Given the description of an element on the screen output the (x, y) to click on. 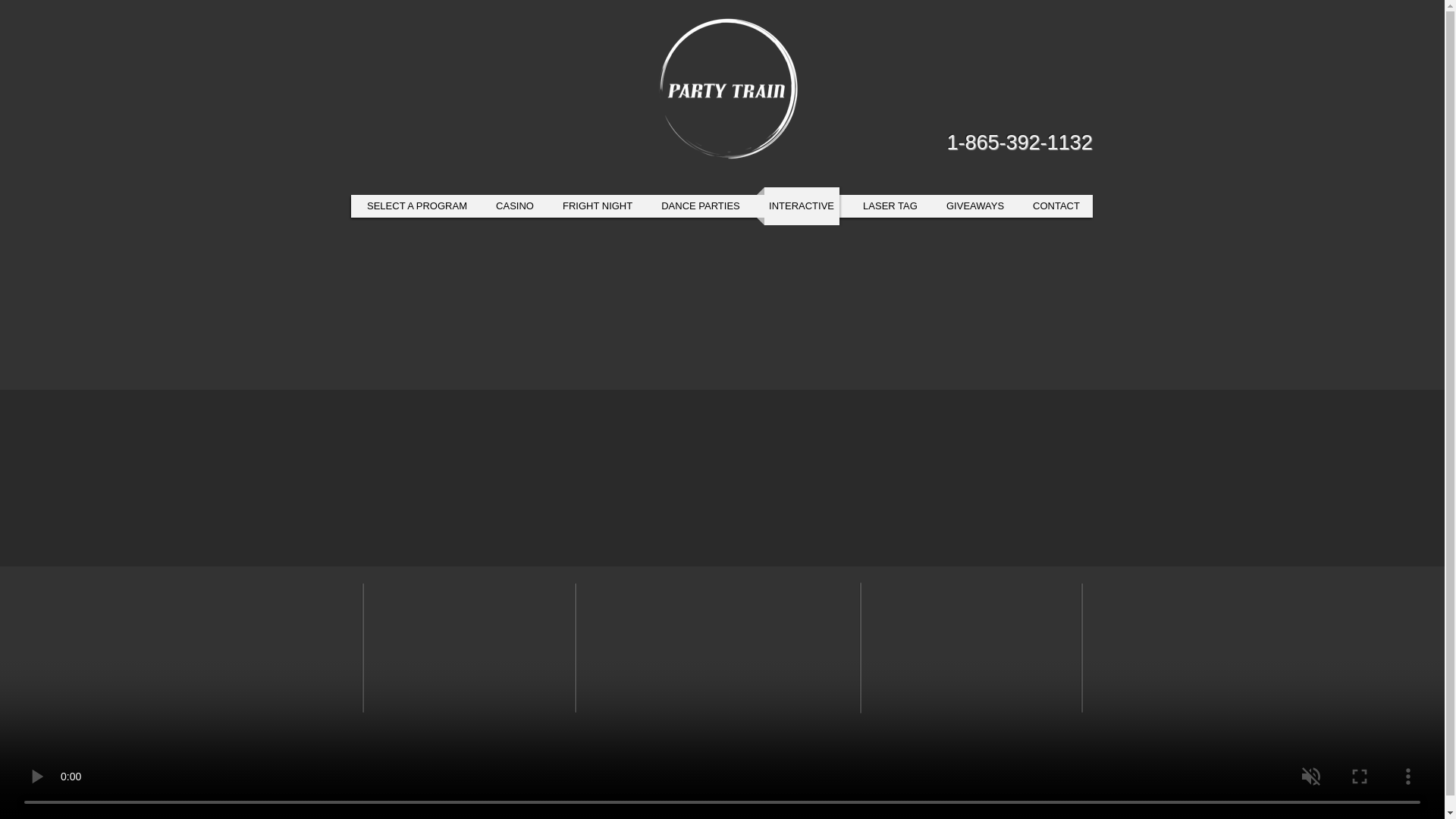
FRIGHT NIGHT (597, 206)
DANCE PARTIES (700, 206)
CASINO (515, 206)
SELECT A PROGRAM (417, 206)
INTERACTIVE (802, 206)
LASER TAG (890, 206)
GIVEAWAYS (975, 206)
